Given the description of an element on the screen output the (x, y) to click on. 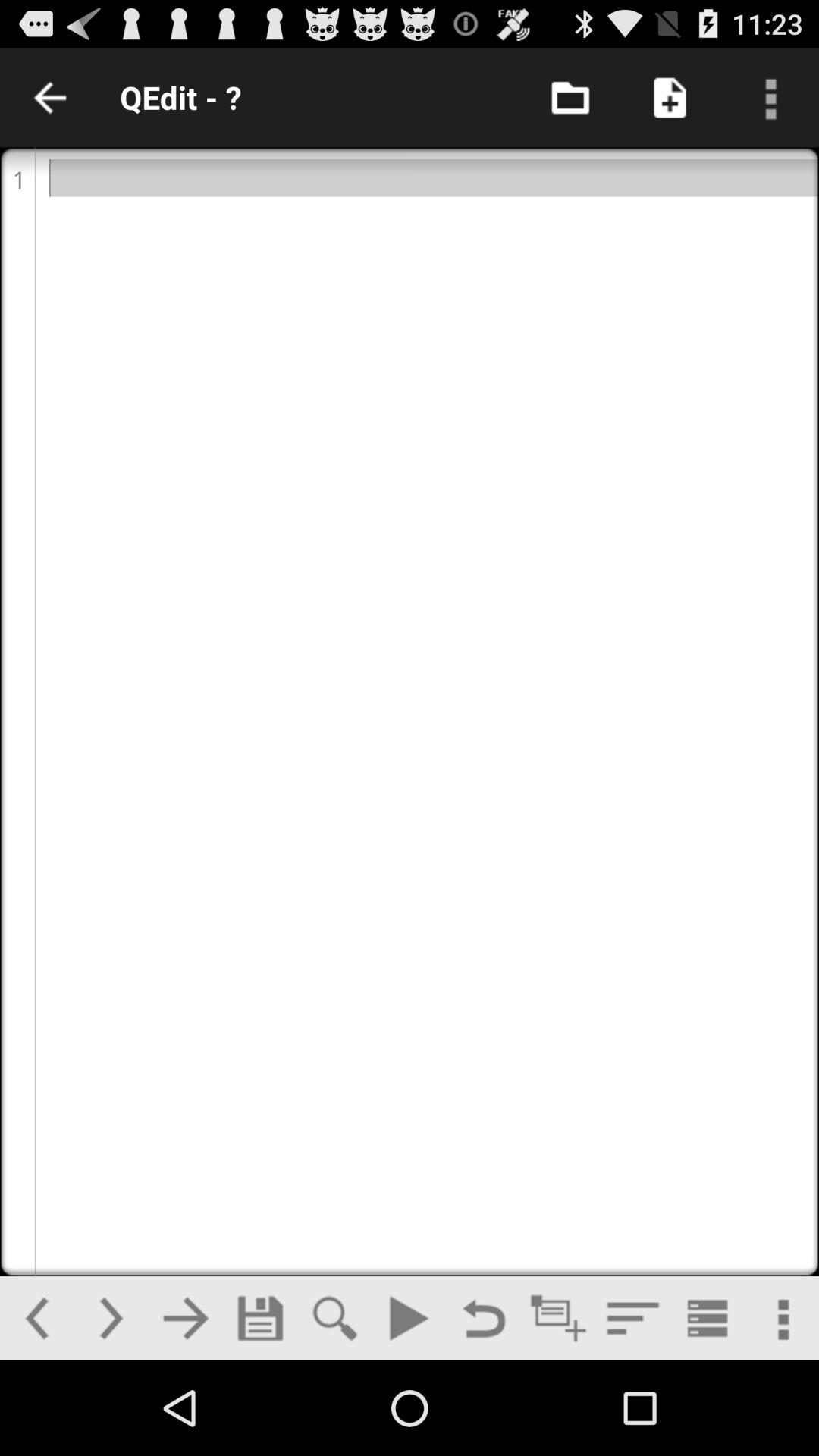
display menu (769, 97)
